Given the description of an element on the screen output the (x, y) to click on. 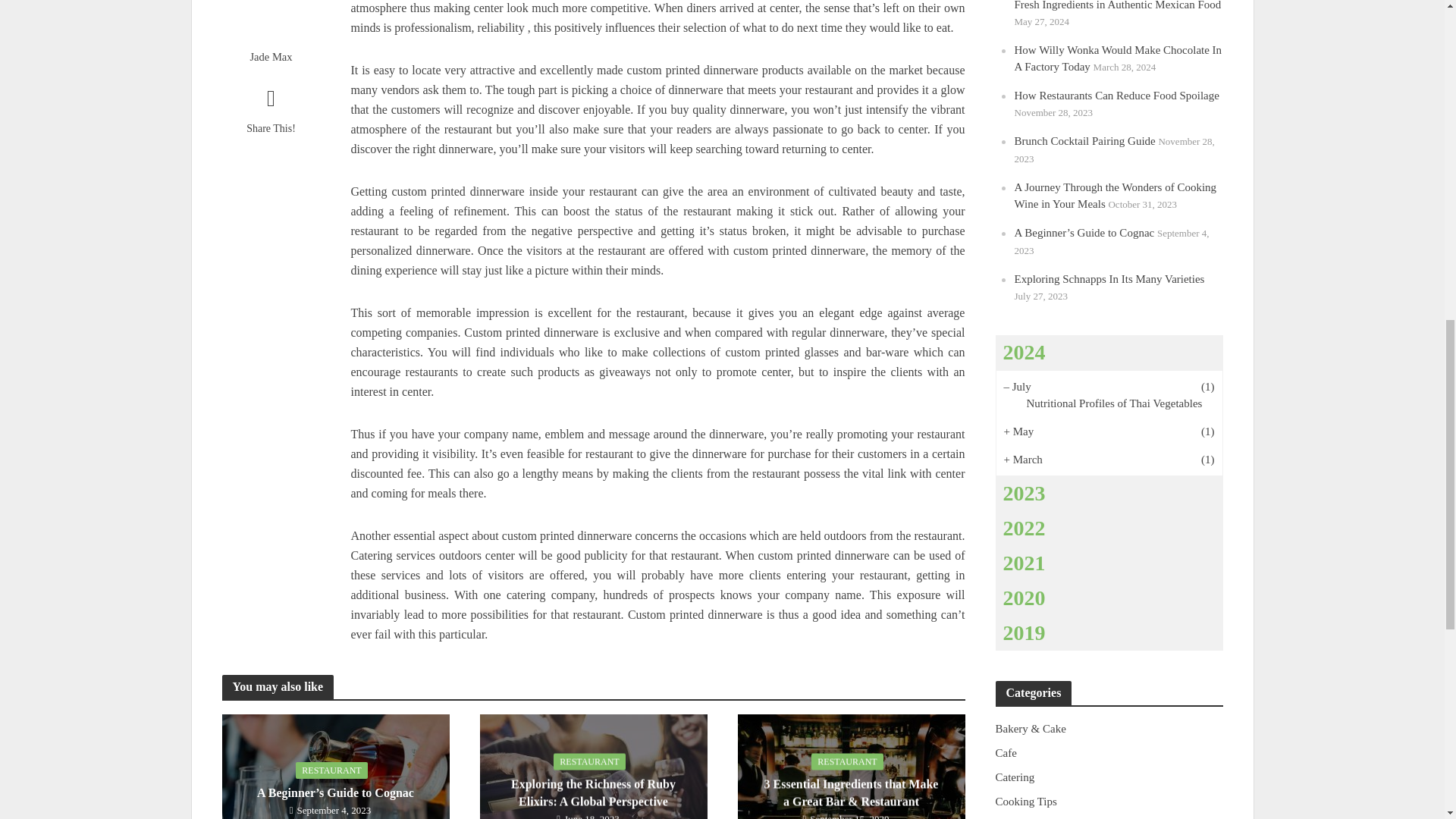
Jade Max (270, 56)
Exploring the Richness of Ruby Elixirs: A Global Perspective (592, 788)
